Given the description of an element on the screen output the (x, y) to click on. 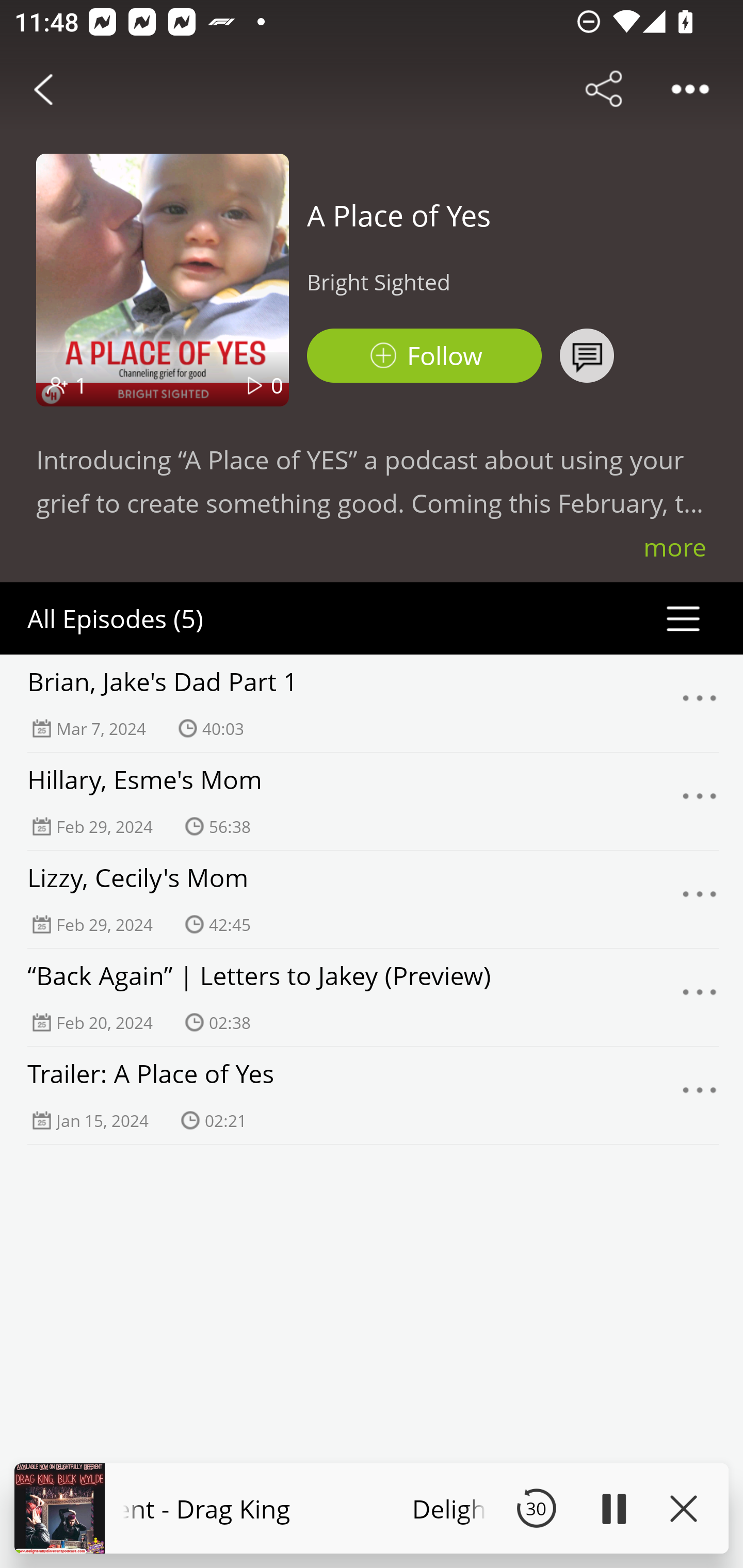
Back (43, 88)
Podbean Follow (423, 355)
1 (80, 384)
more (674, 546)
Brian, Jake's Dad Part 1 Mar 7, 2024 40:03 Menu (371, 702)
Menu (699, 703)
Hillary, Esme's Mom Feb 29, 2024 56:38 Menu (371, 800)
Menu (699, 801)
Lizzy, Cecily's Mom Feb 29, 2024 42:45 Menu (371, 898)
Menu (699, 899)
Menu (699, 997)
Trailer: A Place of Yes Jan 15, 2024 02:21 Menu (371, 1094)
Menu (699, 1095)
Play (613, 1507)
30 Seek Backward (536, 1508)
